Given the description of an element on the screen output the (x, y) to click on. 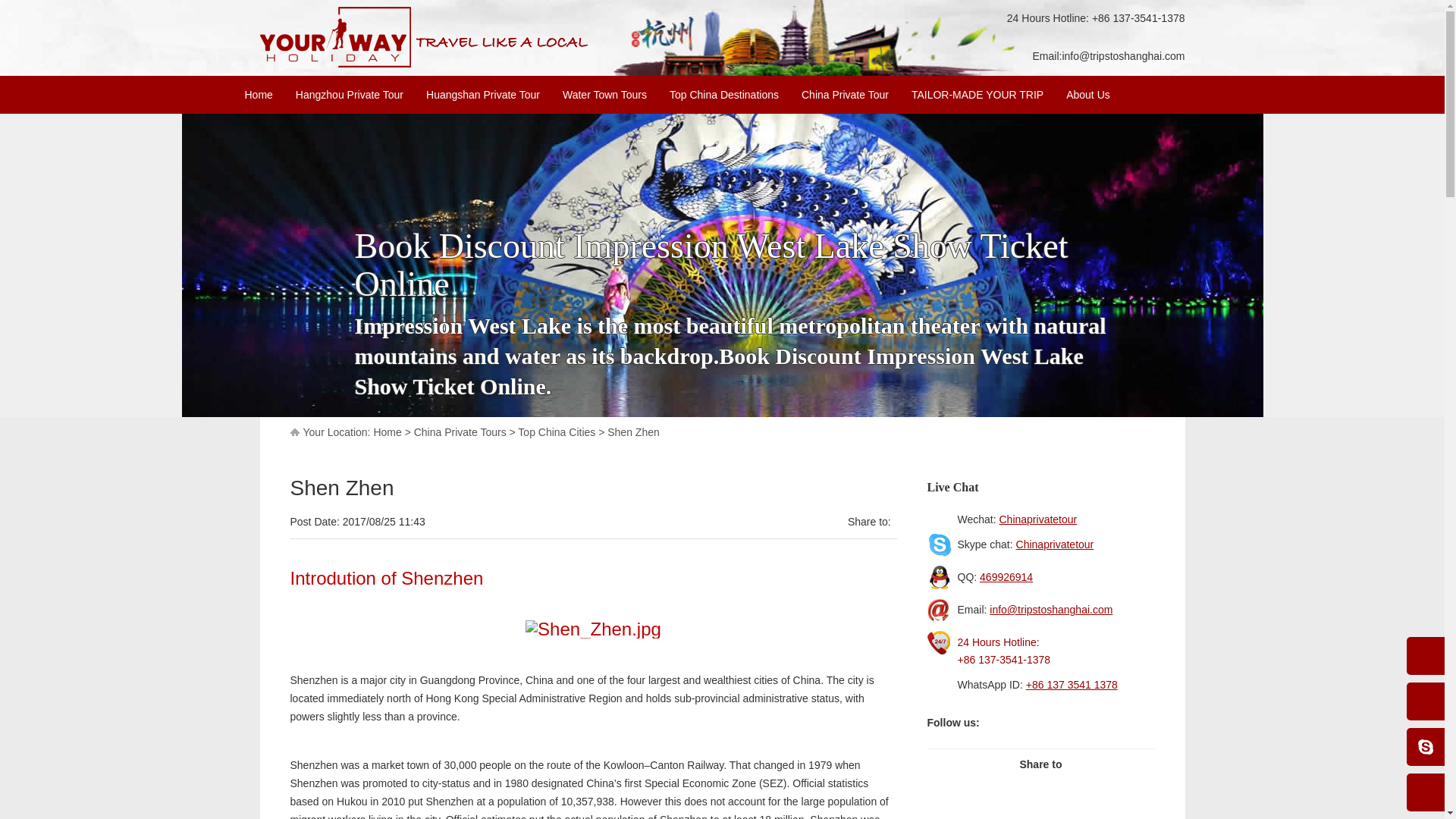
Facebook (997, 722)
Hangzhou Private Tours (423, 64)
Impression Westlake Water Show Ticket Booking (1040, 806)
Instgram (1061, 722)
Huangshan Private Tour (483, 94)
Pinterest (1093, 722)
Hangzhou Private Tour (349, 94)
Water Town Tours (604, 94)
China Private Tour (845, 94)
Top China Destinations (723, 94)
TAILOR-MADE YOUR TRIP (977, 94)
Twitter (1029, 722)
Hangzhou Private Tours (423, 36)
